Given the description of an element on the screen output the (x, y) to click on. 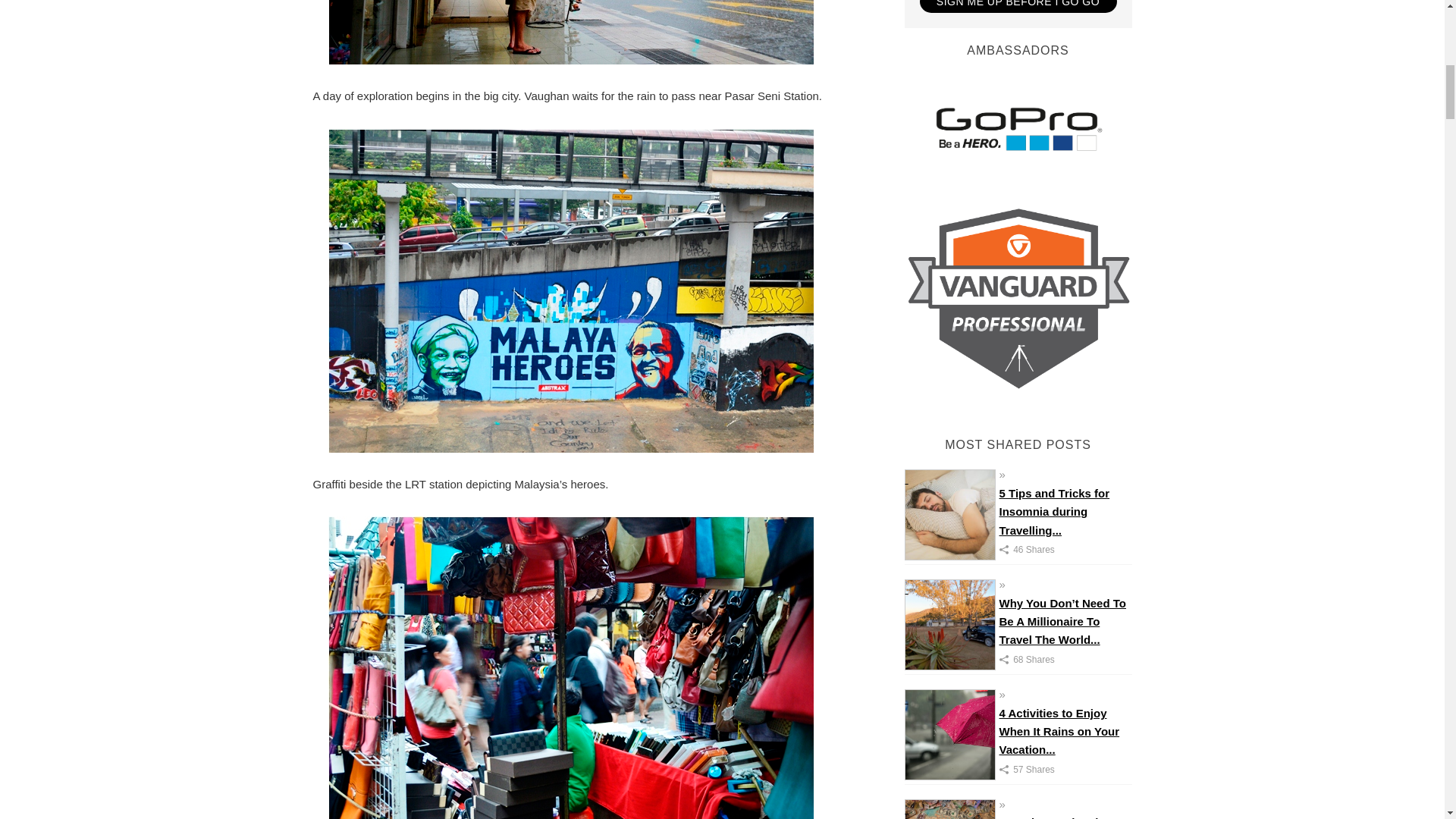
SIGN ME UP BEFORE I GO GO (1017, 6)
